Given the description of an element on the screen output the (x, y) to click on. 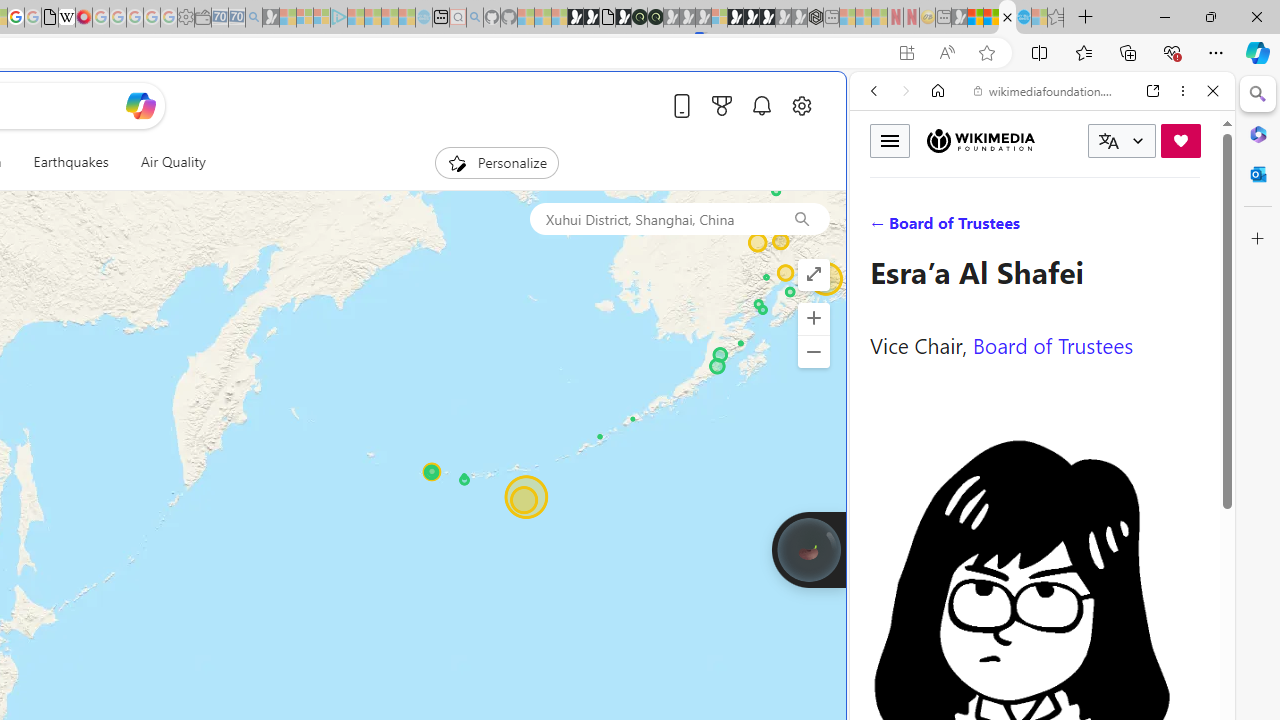
Play Free Online Games | Games from Microsoft Start (751, 17)
MSN - Sleeping (959, 17)
Board of Trustees (1053, 344)
Search for location (651, 218)
Toggle menu (890, 140)
Class: b_serphb (1190, 229)
Search or enter web address (343, 191)
